Given the description of an element on the screen output the (x, y) to click on. 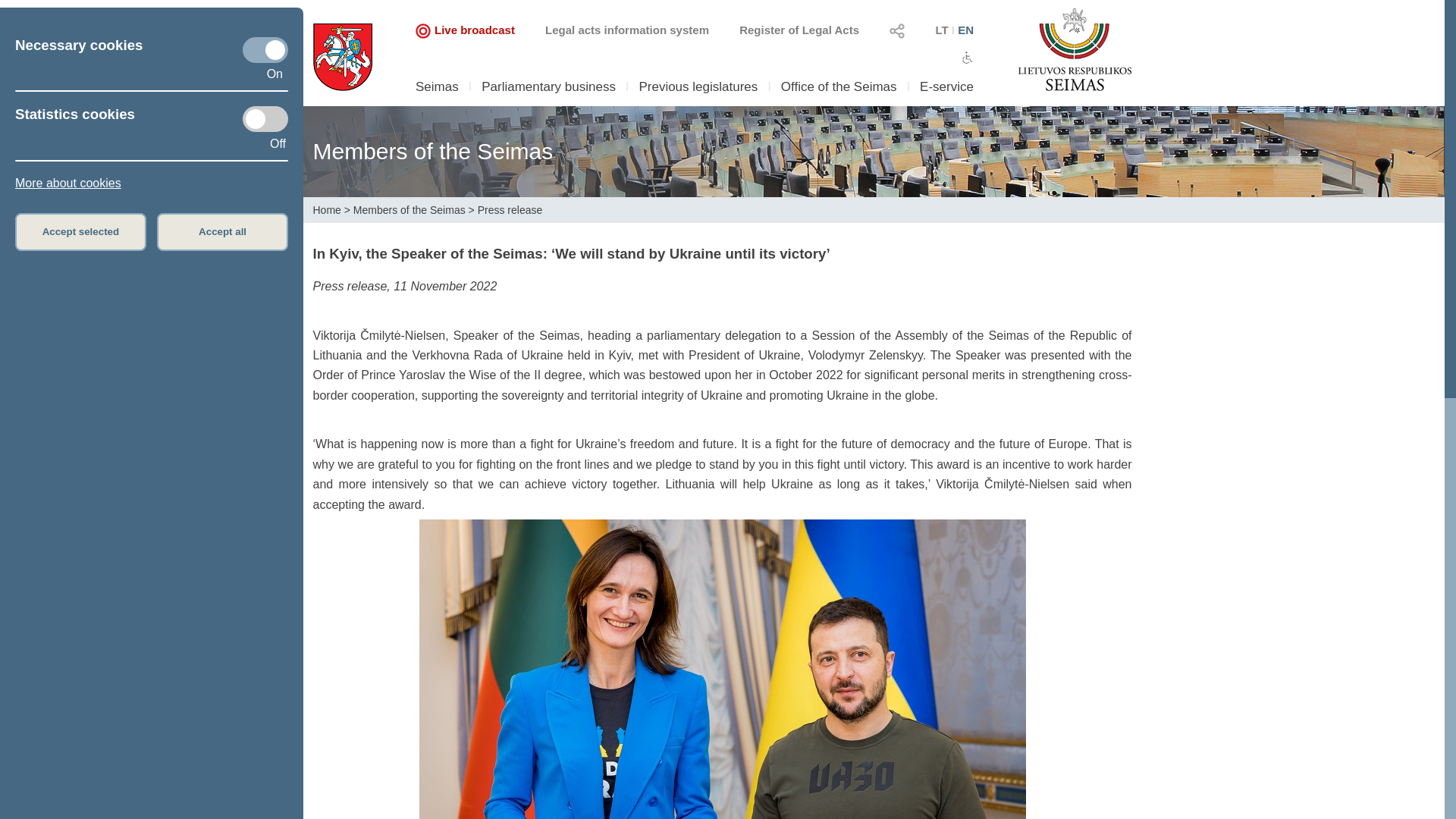
More about cookies (67, 182)
Live broadcast (464, 29)
Live broadcast (422, 30)
LT (940, 29)
Social networks (896, 30)
Accept all (222, 231)
Legal acts information system (626, 29)
Register of Legal Acts (799, 29)
Register of Legal Acts (799, 29)
Accept selected (80, 231)
